Given the description of an element on the screen output the (x, y) to click on. 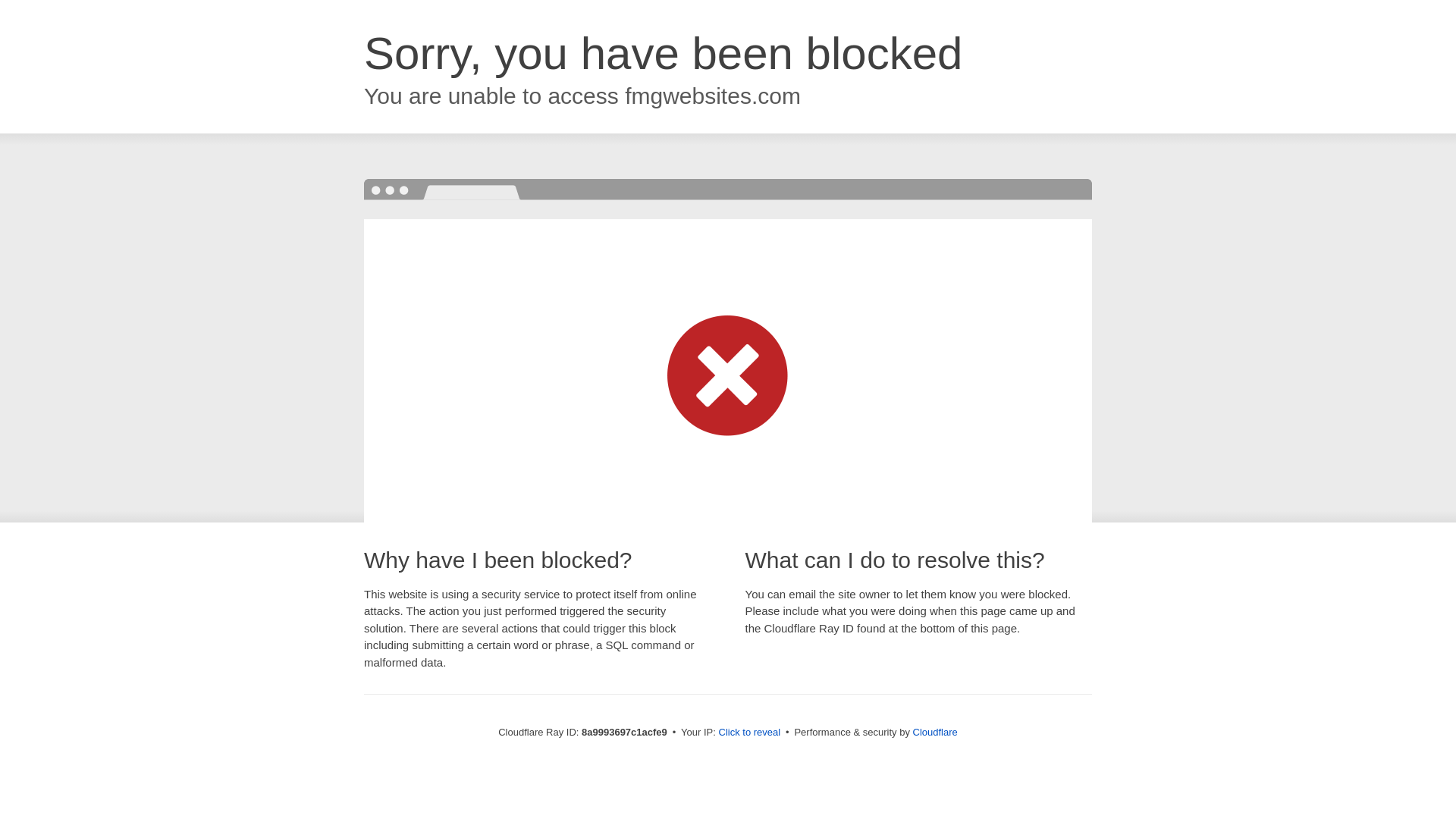
Cloudflare (935, 731)
Click to reveal (749, 732)
